Given the description of an element on the screen output the (x, y) to click on. 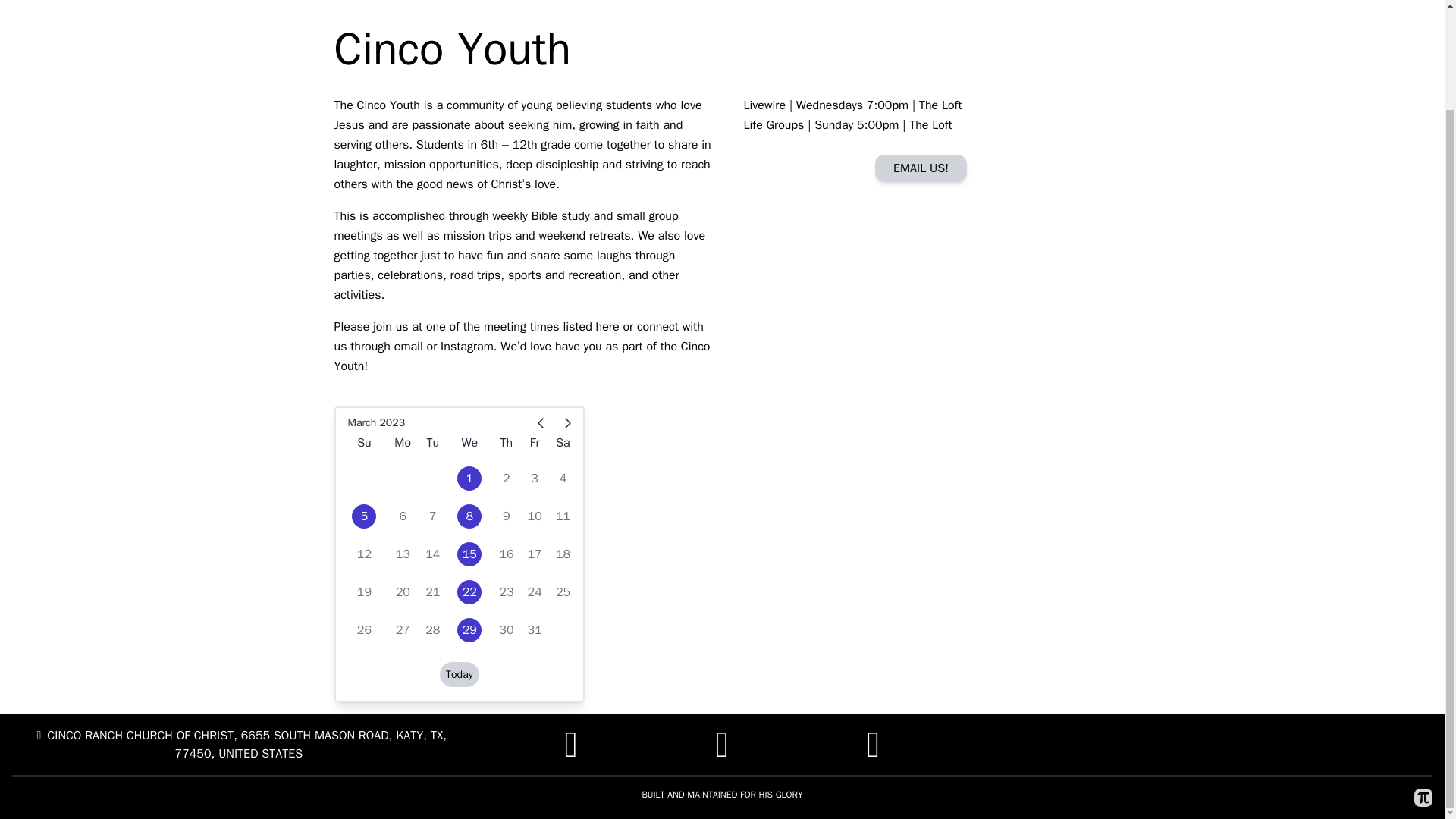
1 (469, 478)
2023 (391, 422)
March (361, 422)
Home (25, 0)
EMAIL US! (920, 167)
Ministries (80, 0)
